Given the description of an element on the screen output the (x, y) to click on. 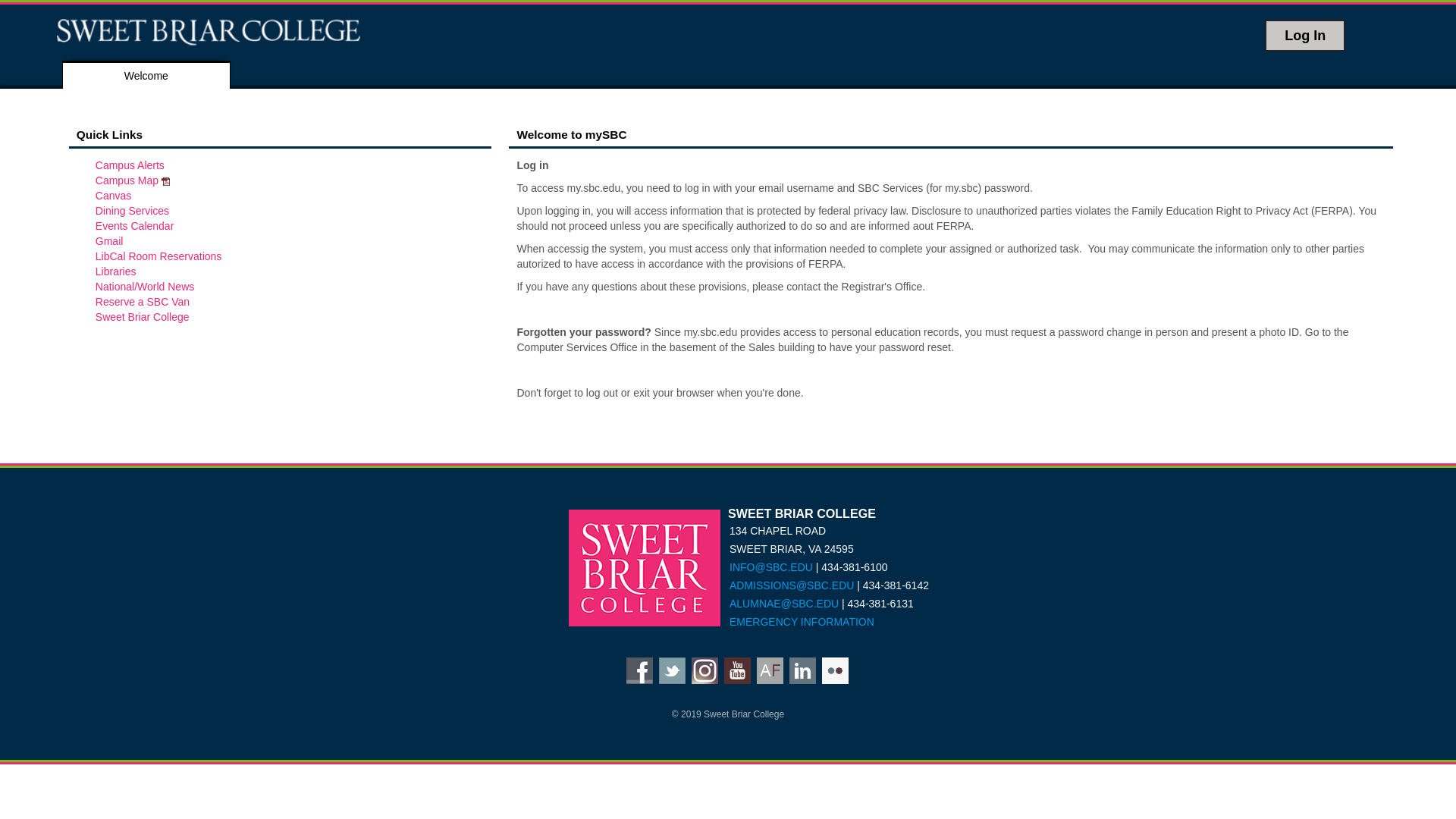
Gmail (109, 241)
Campus Map (133, 180)
Canvas (113, 195)
Reserve a SBC Van (142, 301)
Campus Alerts (130, 164)
Welcome (145, 75)
Libraries (116, 271)
Events Calendar (135, 225)
Sweet Briar College (142, 316)
Home (179, 31)
EMERGENCY INFORMATION (802, 621)
LibCal Room Reservations (159, 256)
Log In (1305, 35)
Dining Services (132, 210)
